Given the description of an element on the screen output the (x, y) to click on. 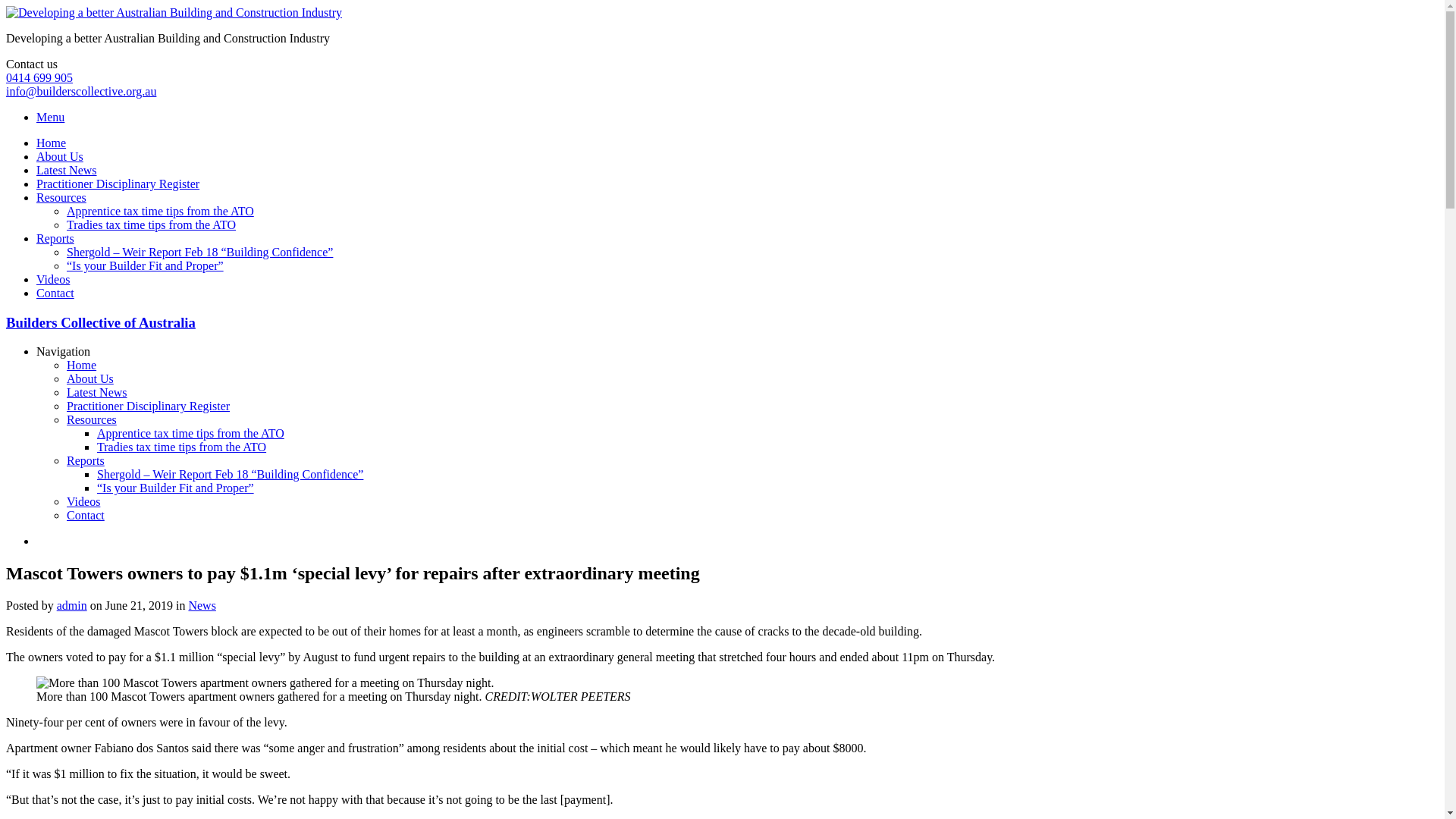
Home Element type: text (81, 364)
Videos Element type: text (52, 279)
About Us Element type: text (89, 378)
Apprentice tax time tips from the ATO Element type: text (160, 210)
0414 699 905 Element type: text (39, 77)
Home Element type: text (50, 142)
Latest News Element type: text (96, 391)
Resources Element type: text (61, 197)
Apprentice tax time tips from the ATO Element type: text (190, 432)
Contact Element type: text (85, 514)
News Element type: text (201, 605)
info@builderscollective.org.au Element type: text (81, 90)
Videos Element type: text (83, 501)
Tradies tax time tips from the ATO Element type: text (181, 446)
Tradies tax time tips from the ATO Element type: text (150, 224)
Latest News Element type: text (66, 169)
Reports Element type: text (55, 238)
Practitioner Disciplinary Register Element type: text (117, 183)
Builders Collective of Australia Element type: text (100, 322)
About Us Element type: text (59, 156)
Reports Element type: text (85, 460)
Practitioner Disciplinary Register Element type: text (147, 405)
Contact Element type: text (55, 292)
admin Element type: text (71, 605)
Resources Element type: text (91, 419)
Menu Element type: text (50, 116)
